Given the description of an element on the screen output the (x, y) to click on. 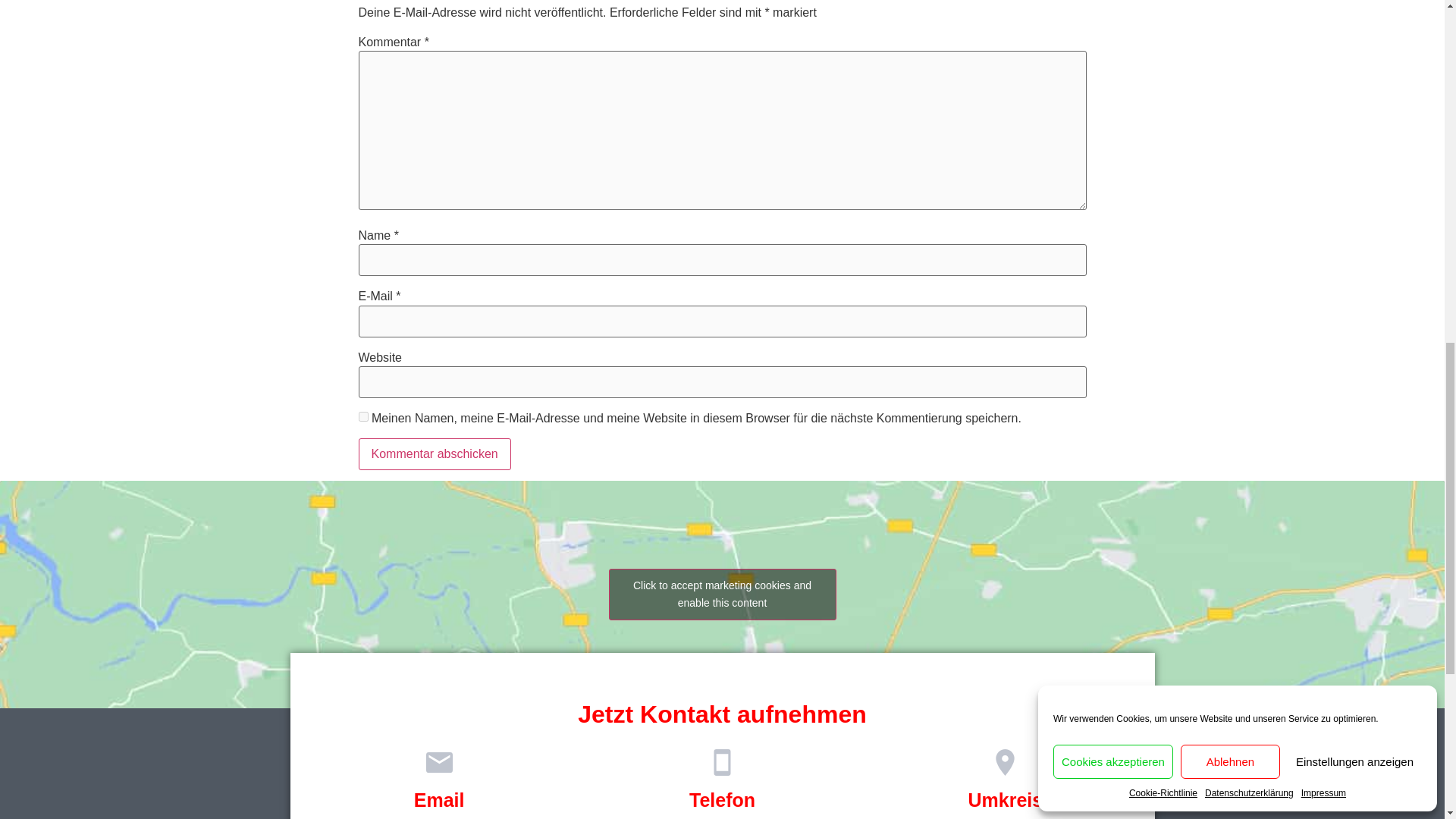
Kommentar abschicken (434, 454)
Click to accept marketing cookies and enable this content (721, 593)
Email (438, 799)
Kommentar abschicken (434, 454)
yes (363, 416)
Telefon (721, 799)
